Given the description of an element on the screen output the (x, y) to click on. 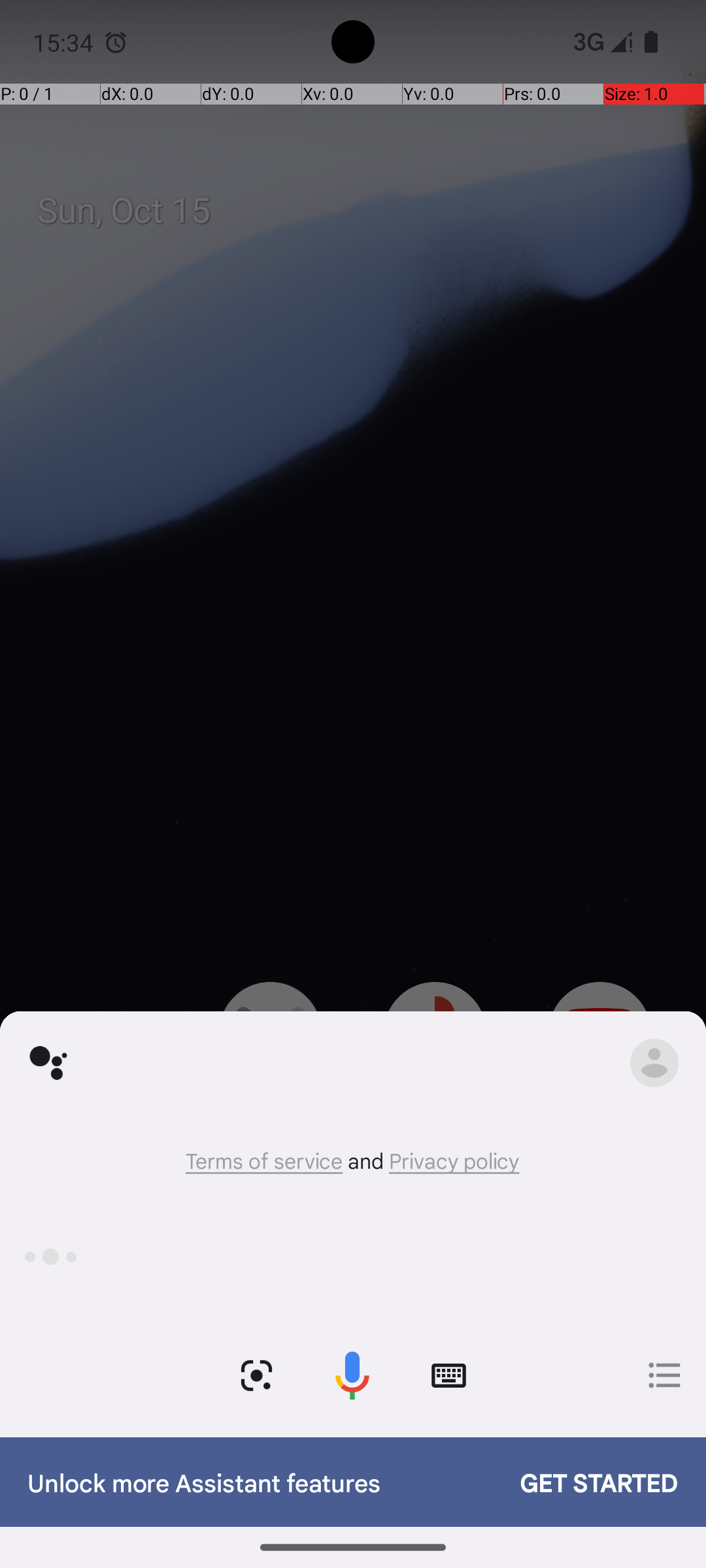
Voice search button, tap to speak Element type: android.view.View (351, 1375)
Unlock more Assistant features Element type: android.widget.TextView (259, 1481)
GET STARTED Element type: android.widget.TextView (585, 1481)
Google assistant Element type: android.widget.ImageView (48, 1062)
Google Assistant menu. Element type: android.widget.ImageView (654, 1062)
Terms of service and Privacy policy Element type: android.widget.TextView (352, 1159)
